Given the description of an element on the screen output the (x, y) to click on. 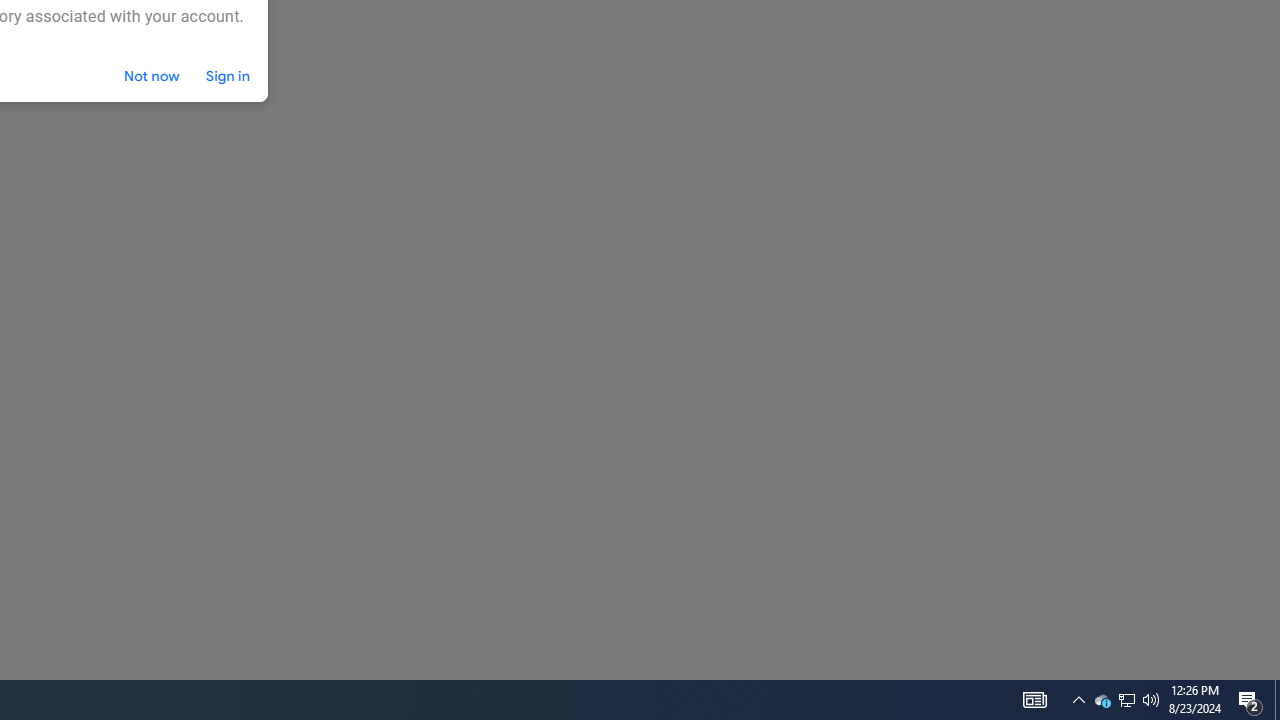
Not now (152, 76)
